Given the description of an element on the screen output the (x, y) to click on. 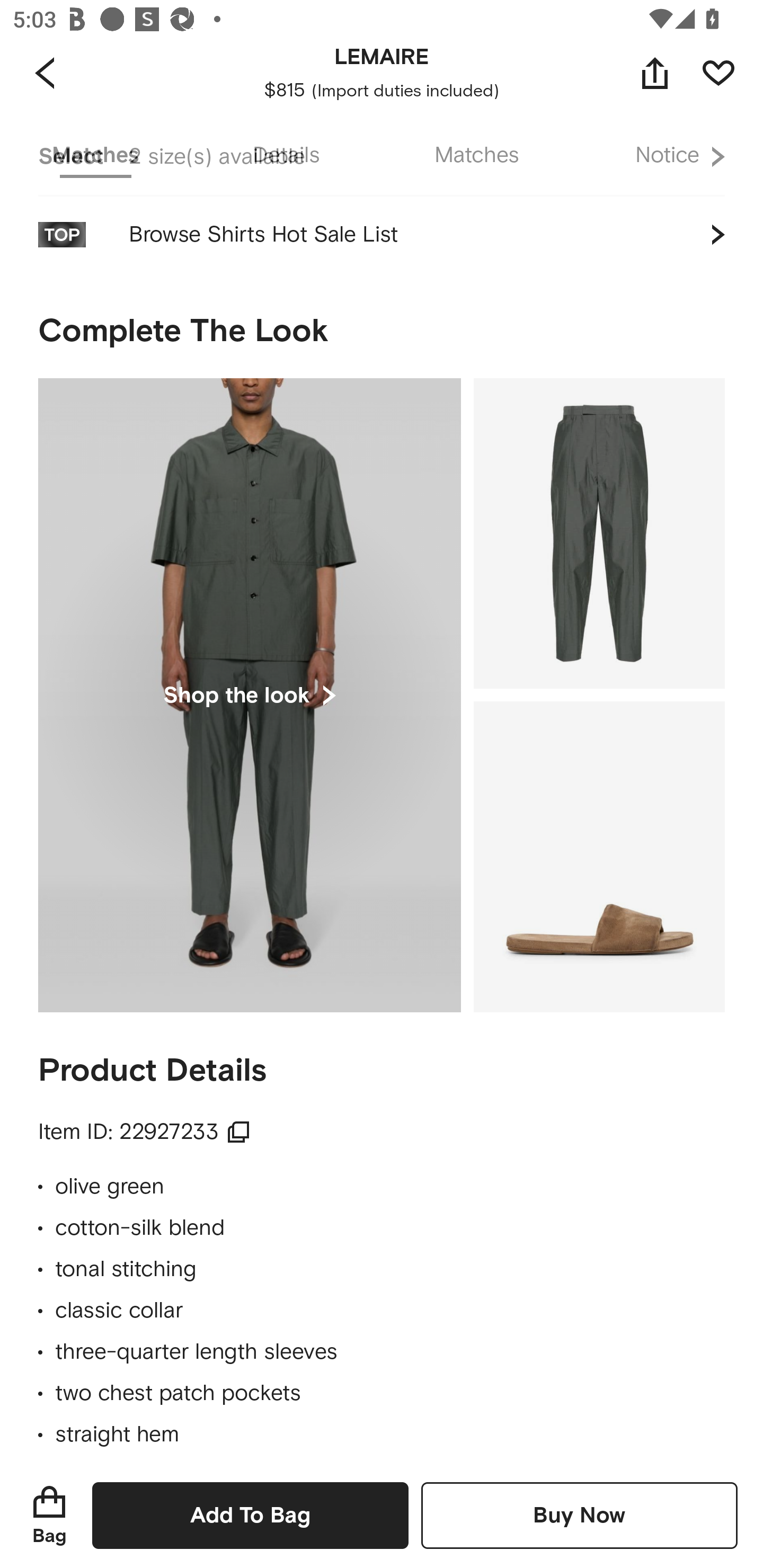
Matches (476, 155)
Notice (667, 155)
Browse Shirts Hot Sale List (381, 237)
Item ID: 22927233 (144, 1131)
Bag (49, 1515)
Add To Bag (250, 1515)
Buy Now (579, 1515)
